Given the description of an element on the screen output the (x, y) to click on. 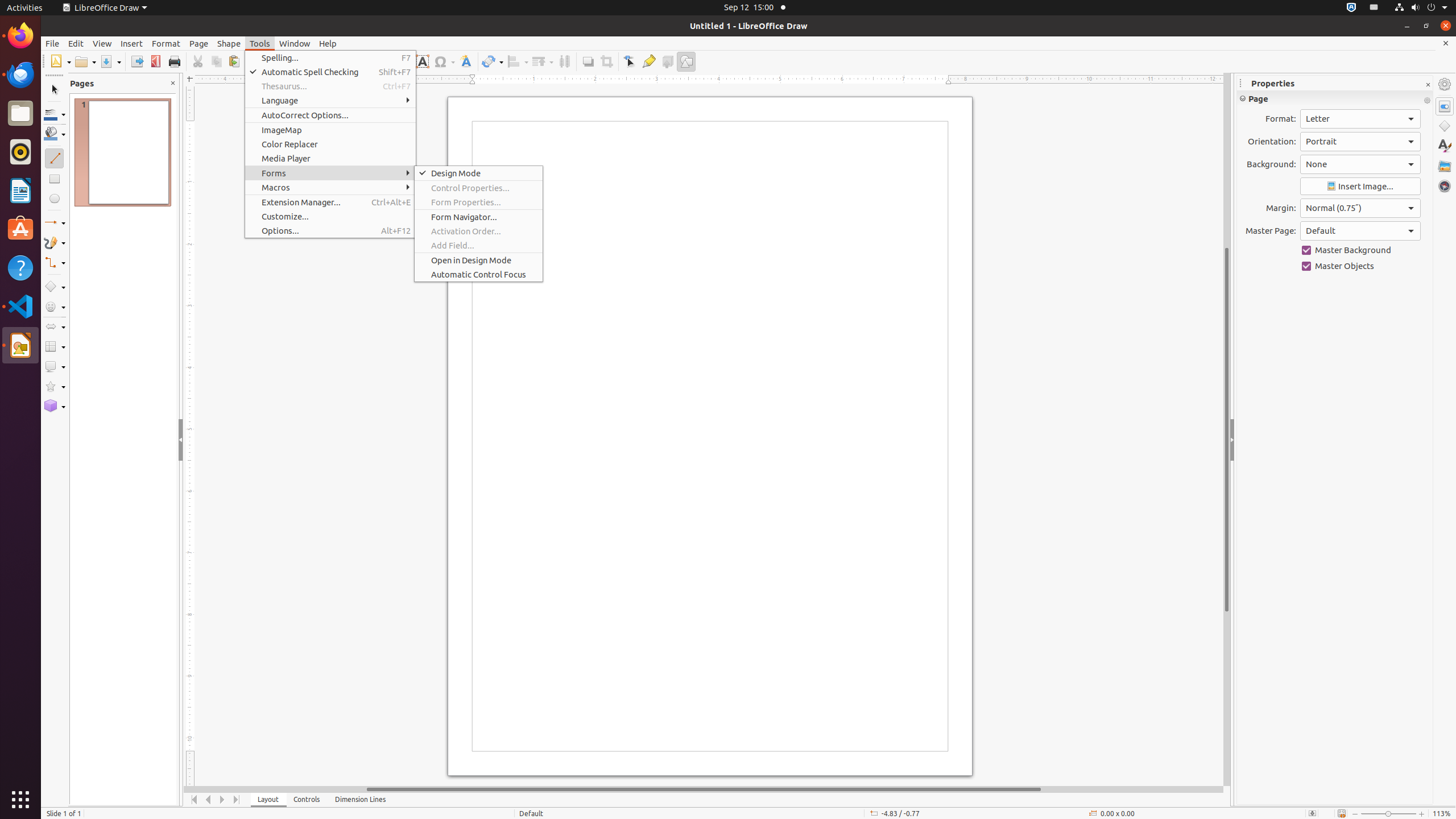
Margin: Element type: combo-box (1360, 207)
Ubuntu Software Element type: push-button (20, 229)
System Element type: menu (1420, 7)
Dimension Lines Element type: page-tab (360, 799)
Thunderbird Mail Element type: push-button (20, 74)
